Given the description of an element on the screen output the (x, y) to click on. 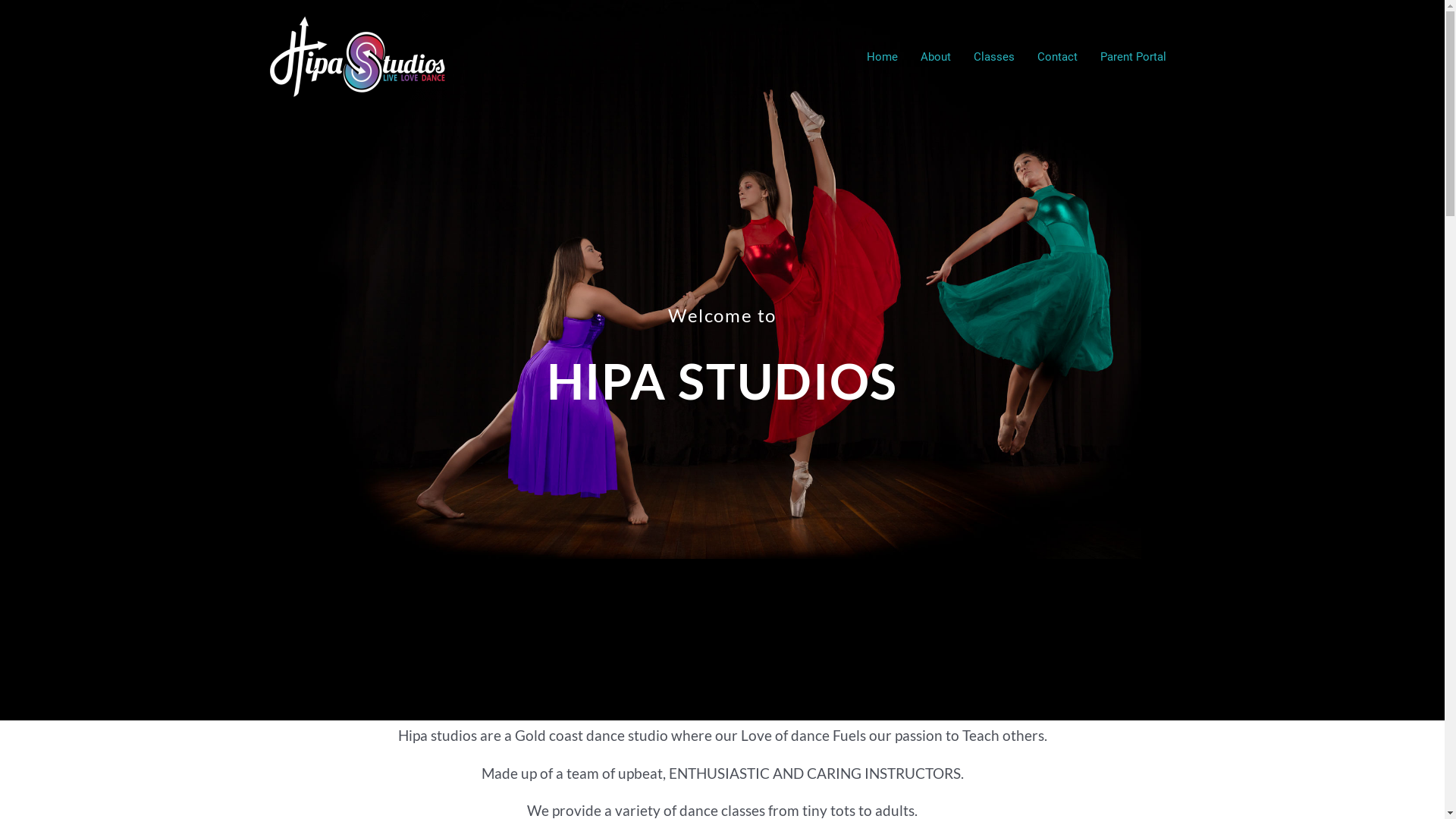
Classes Element type: text (993, 56)
Parent Portal Element type: text (1132, 56)
Home Element type: text (882, 56)
Contact Element type: text (1056, 56)
About Element type: text (934, 56)
